Given the description of an element on the screen output the (x, y) to click on. 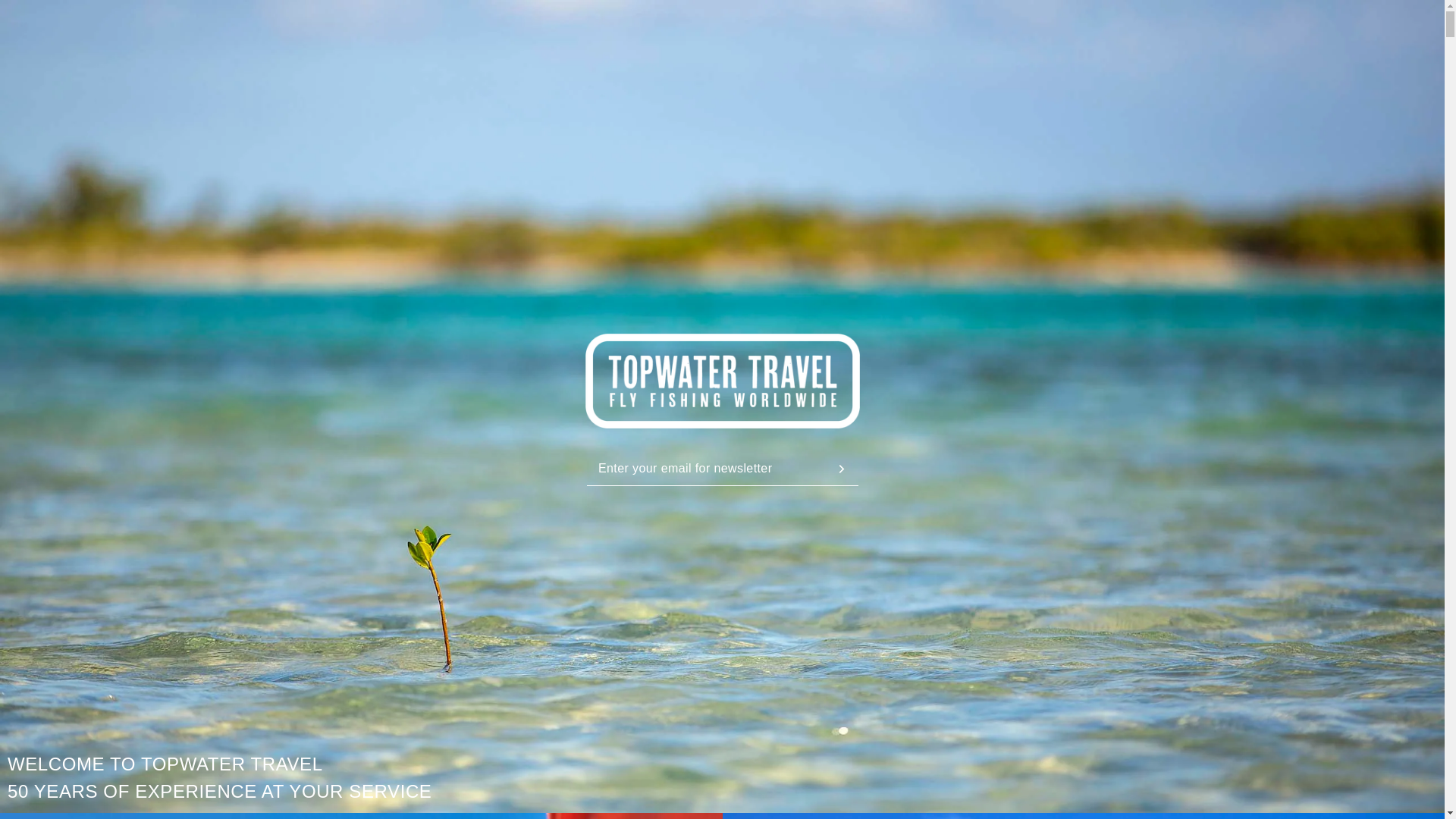
Skip to content (45, 17)
